Given the description of an element on the screen output the (x, y) to click on. 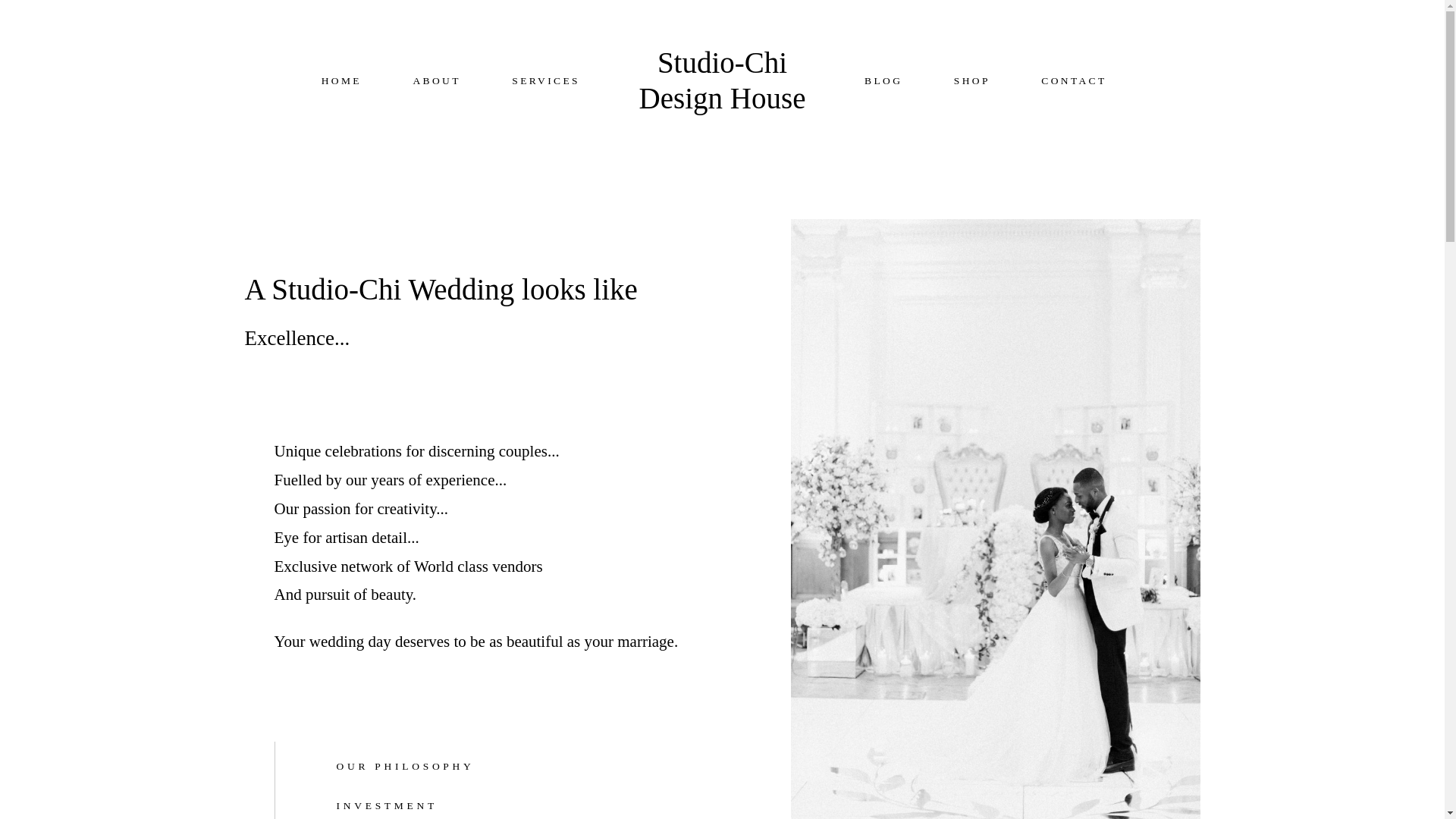
OUR PHILOSOPHY (510, 766)
SHOP (971, 81)
HOME (341, 81)
ABOUT (436, 81)
Studio-Chi Design House (721, 81)
INVESTMENT (510, 806)
CONTACT (1073, 81)
BLOG (883, 81)
SERVICES (545, 81)
